Given the description of an element on the screen output the (x, y) to click on. 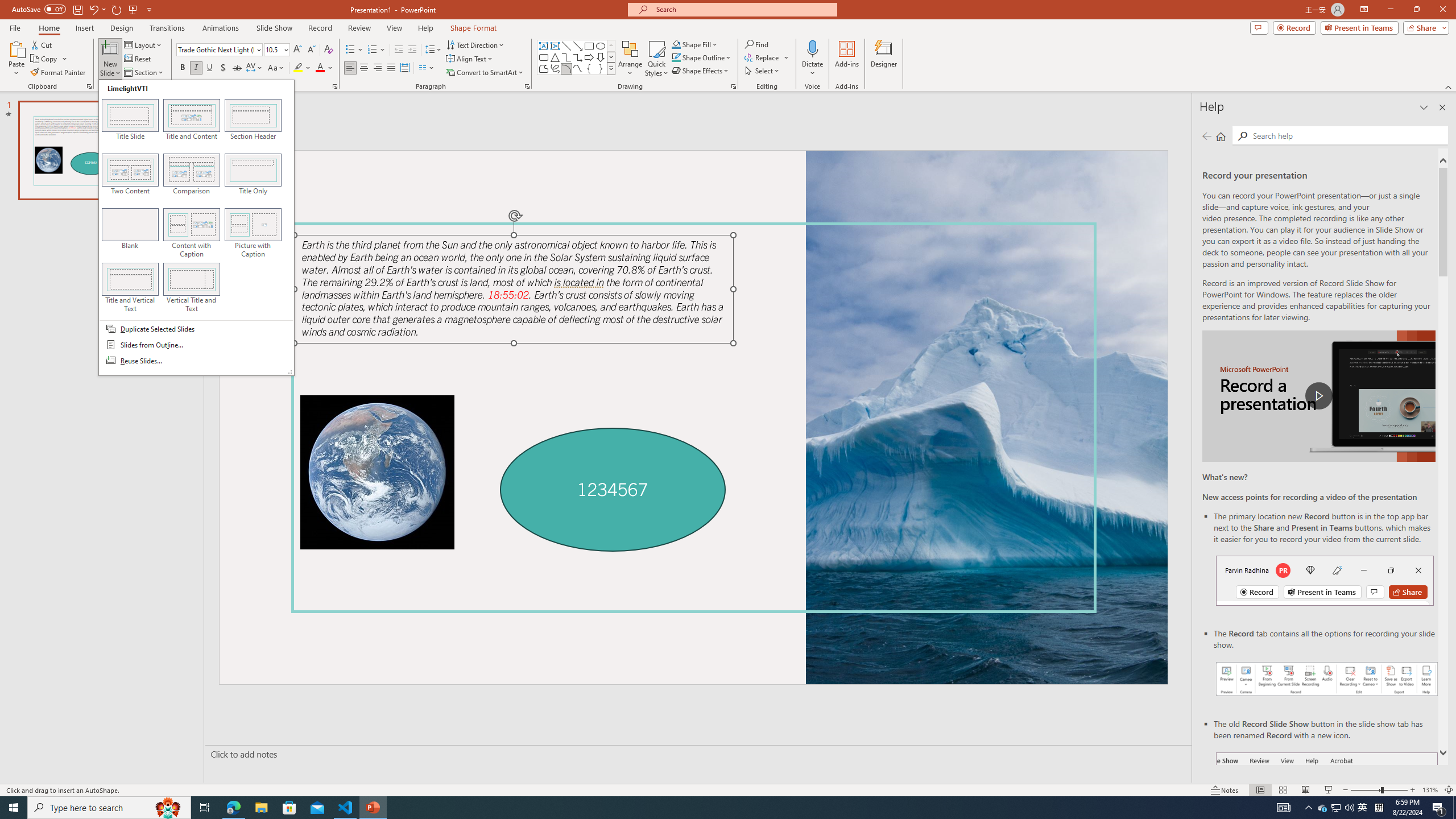
Running applications (700, 807)
